Given the description of an element on the screen output the (x, y) to click on. 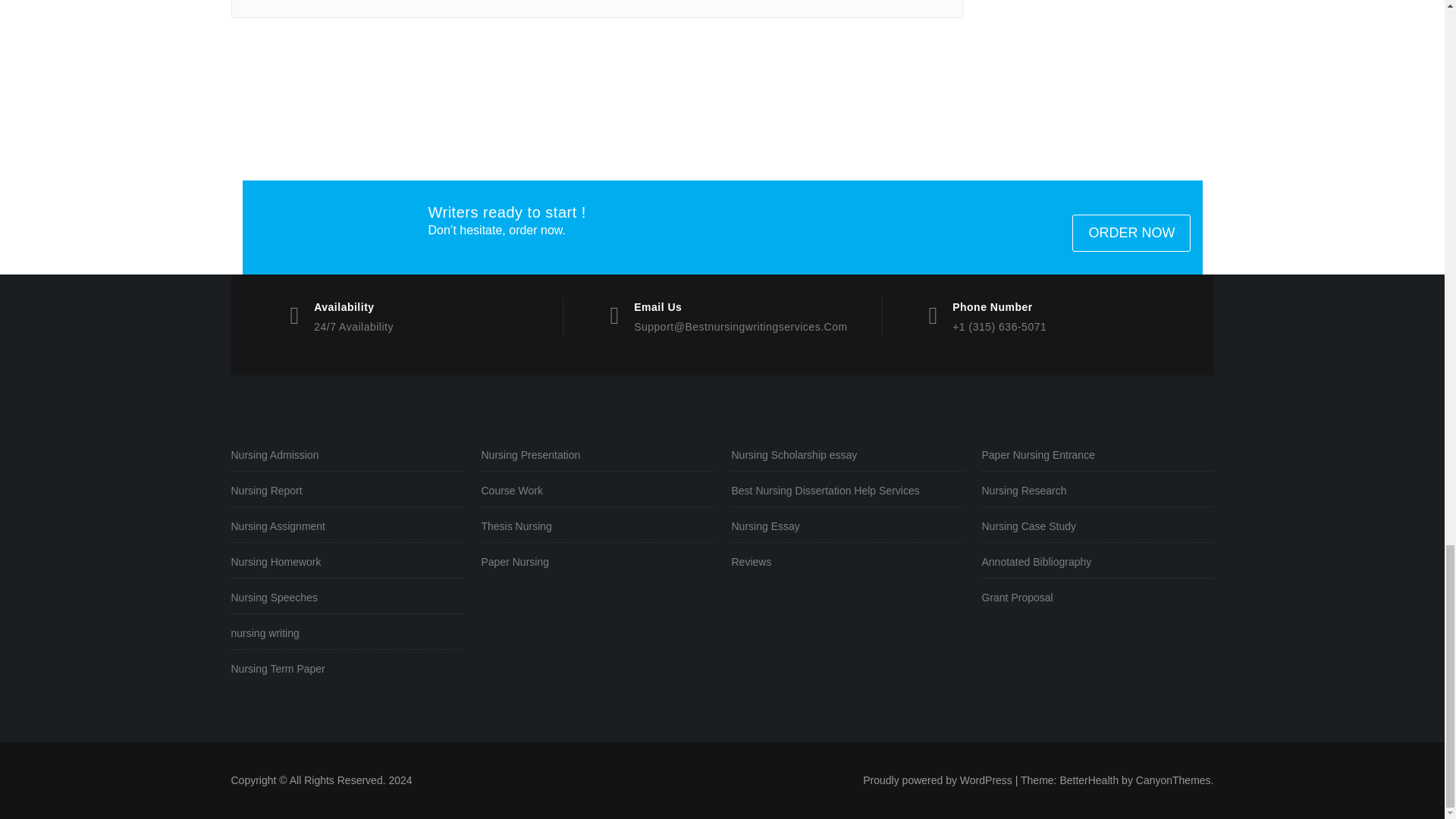
ORDER NOW (1131, 232)
